Given the description of an element on the screen output the (x, y) to click on. 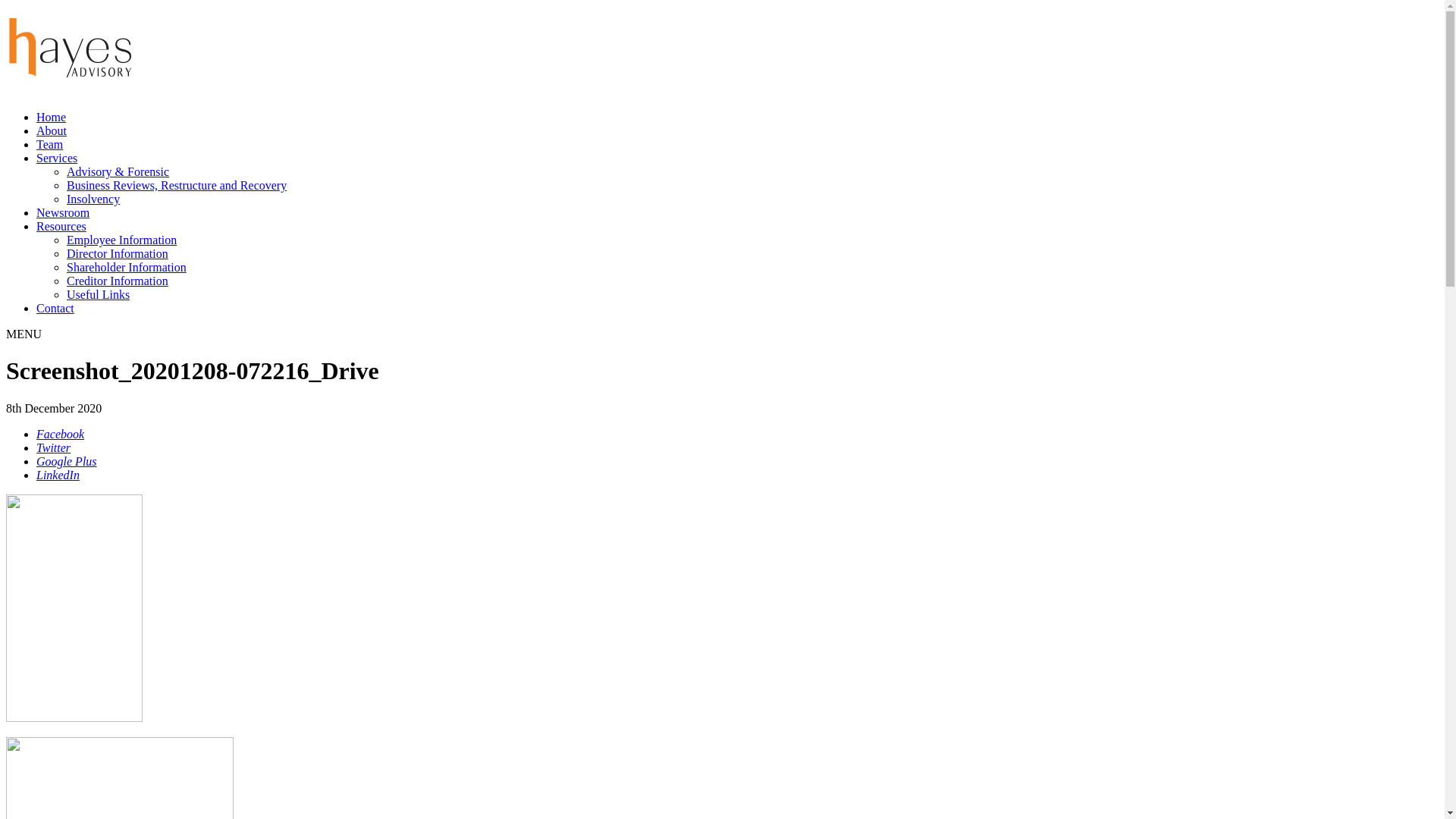
Insolvency Element type: text (92, 198)
Creditor Information Element type: text (117, 280)
Services Element type: text (56, 157)
Resources Element type: text (61, 225)
LinkedIn Element type: text (57, 474)
Employee Information Element type: text (121, 239)
Twitter Element type: text (53, 447)
Google Plus Element type: text (66, 461)
Useful Links Element type: text (97, 294)
Facebook Element type: text (60, 433)
Advisory & Forensic Element type: text (117, 171)
Director Information Element type: text (117, 253)
Newsroom Element type: text (62, 212)
Shareholder Information Element type: text (126, 266)
Contact Element type: text (55, 307)
Team Element type: text (49, 144)
Business Reviews, Restructure and Recovery Element type: text (176, 184)
Home Element type: text (50, 116)
About Element type: text (51, 130)
